Given the description of an element on the screen output the (x, y) to click on. 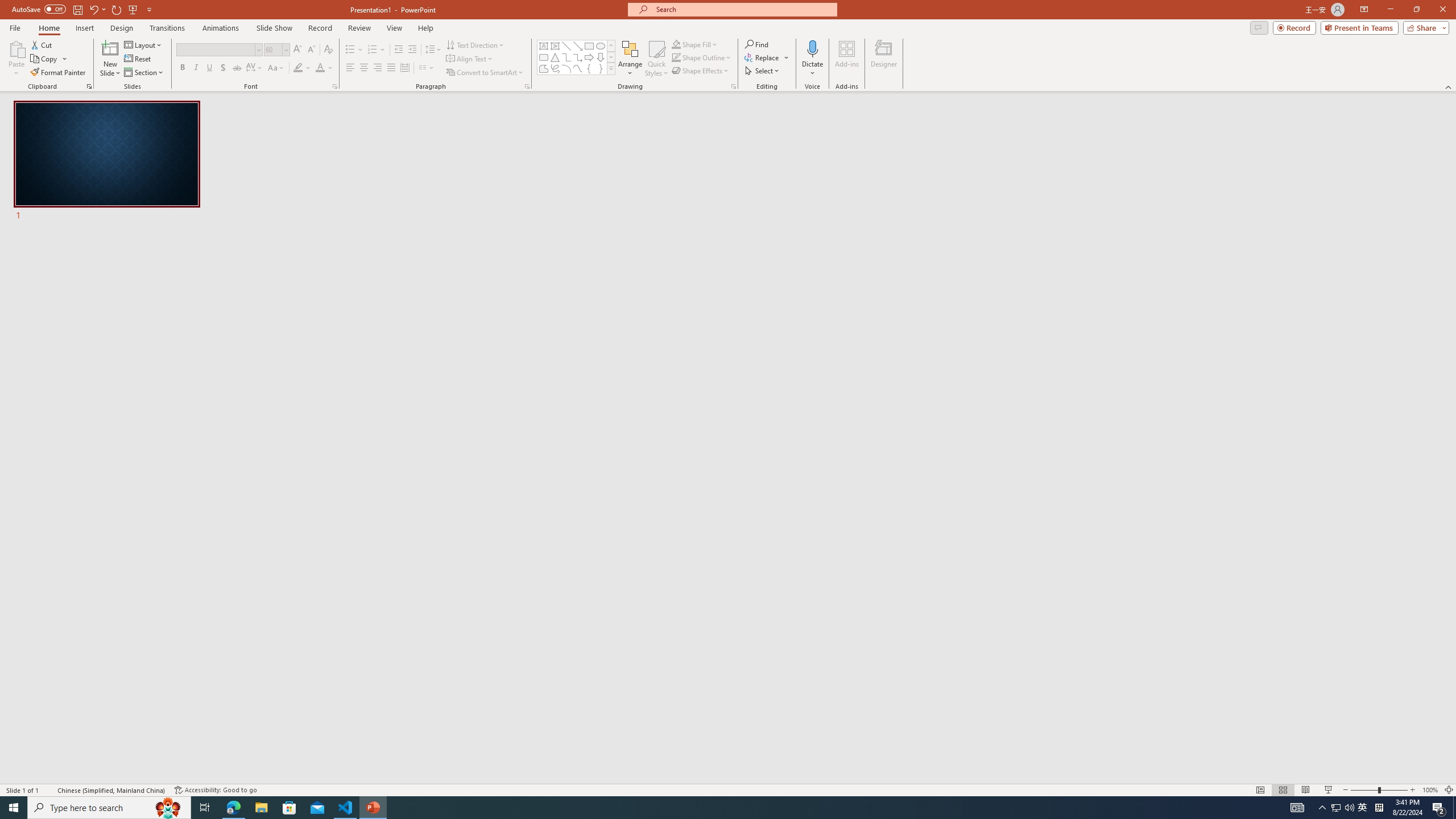
Redo (117, 9)
Rectangle: Rounded Corners (543, 57)
Numbering (376, 49)
Font (215, 49)
Zoom to Fit  (1449, 790)
Align Text (470, 58)
Vertical Text Box (554, 45)
More Options (812, 68)
Slide (106, 161)
Section (144, 72)
Decrease Indent (398, 49)
Open (285, 49)
Shape Fill (694, 44)
Justify (390, 67)
Oval (600, 45)
